Given the description of an element on the screen output the (x, y) to click on. 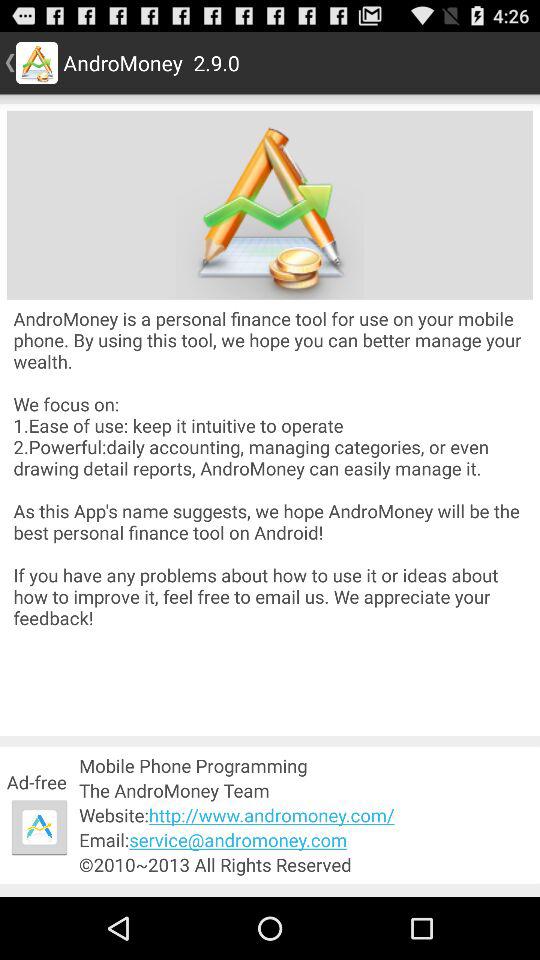
view icon (39, 827)
